Given the description of an element on the screen output the (x, y) to click on. 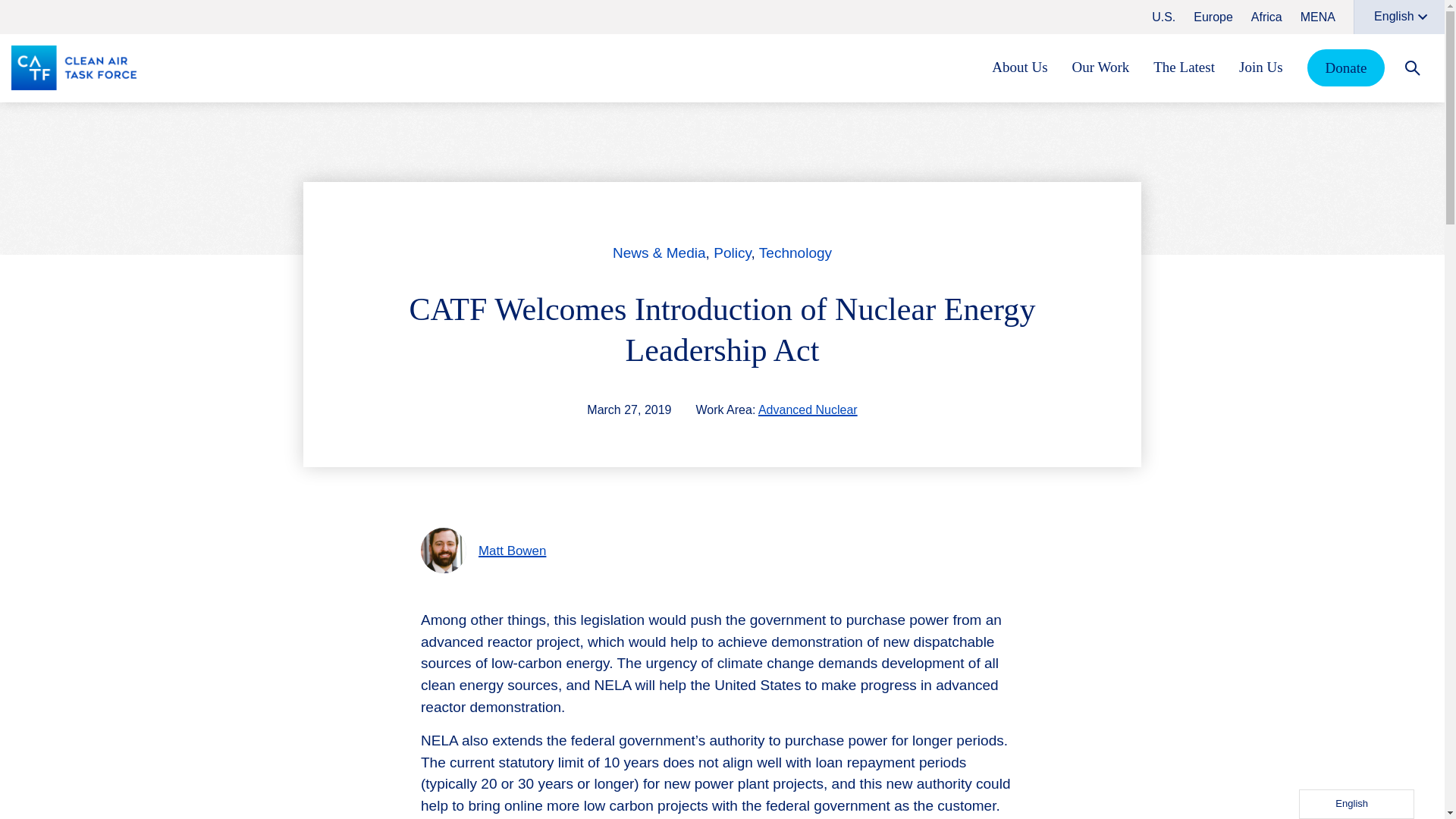
U.S. (1162, 16)
Donate (1346, 67)
Join Us (1260, 67)
Africa (1266, 16)
About Us (1018, 67)
Search (1413, 67)
MENA (1317, 16)
Europe (1213, 16)
The Latest (1183, 67)
Our Work (1100, 67)
